Given the description of an element on the screen output the (x, y) to click on. 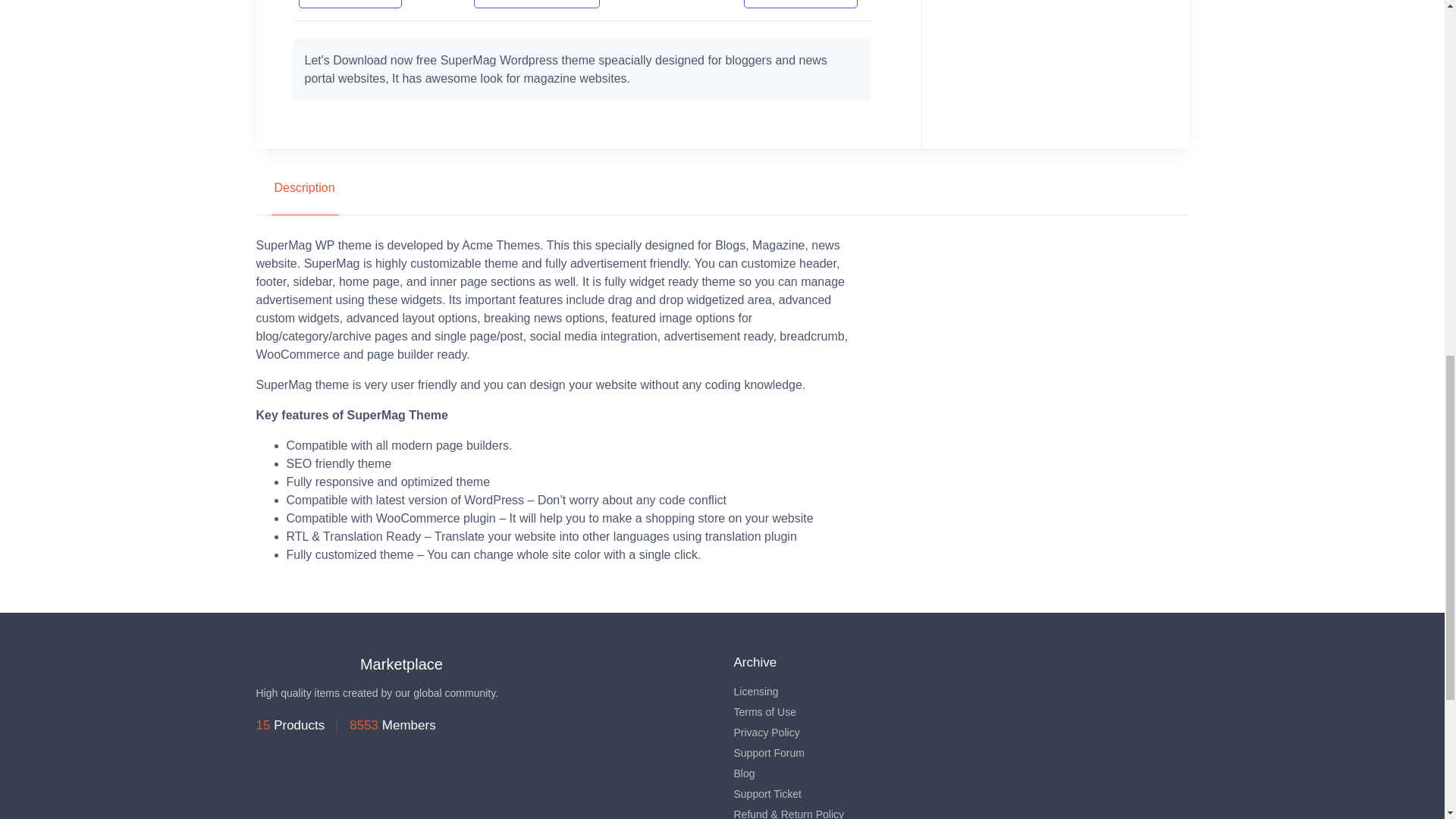
Live Demo (349, 4)
Documentation (536, 4)
